Given the description of an element on the screen output the (x, y) to click on. 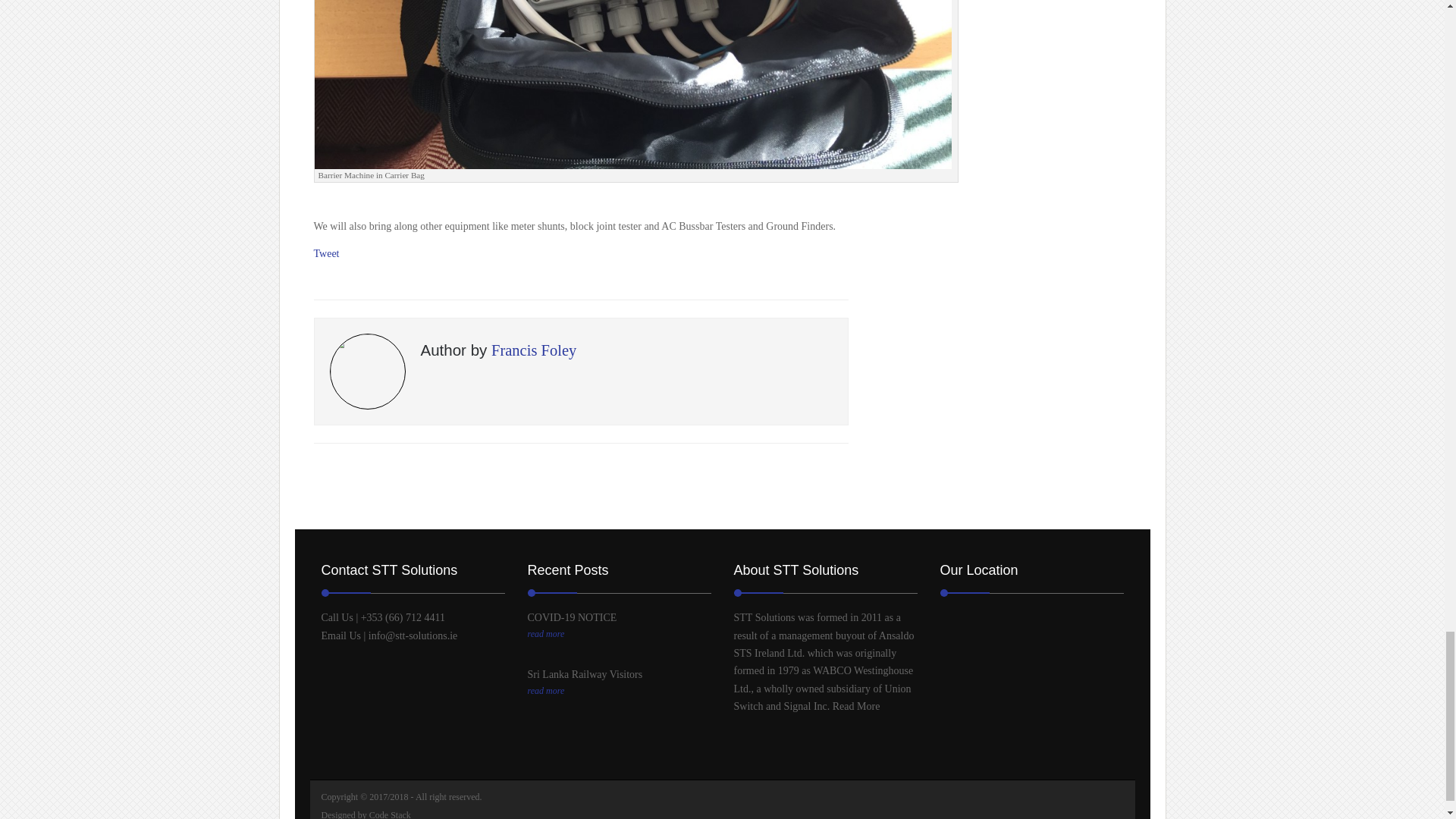
read more (619, 691)
read more (619, 634)
Read More (856, 706)
Francis Foley (534, 350)
COVID-19 NOTICE (572, 617)
COVID-19 NOTICE (619, 634)
Sri Lanka Railway Visitors (585, 674)
COVID-19 NOTICE (572, 617)
Sri Lanka Railway Visitors (619, 691)
Francis Foley (534, 350)
Sri Lanka Railway Visitors (585, 674)
Tweet (326, 253)
